Given the description of an element on the screen output the (x, y) to click on. 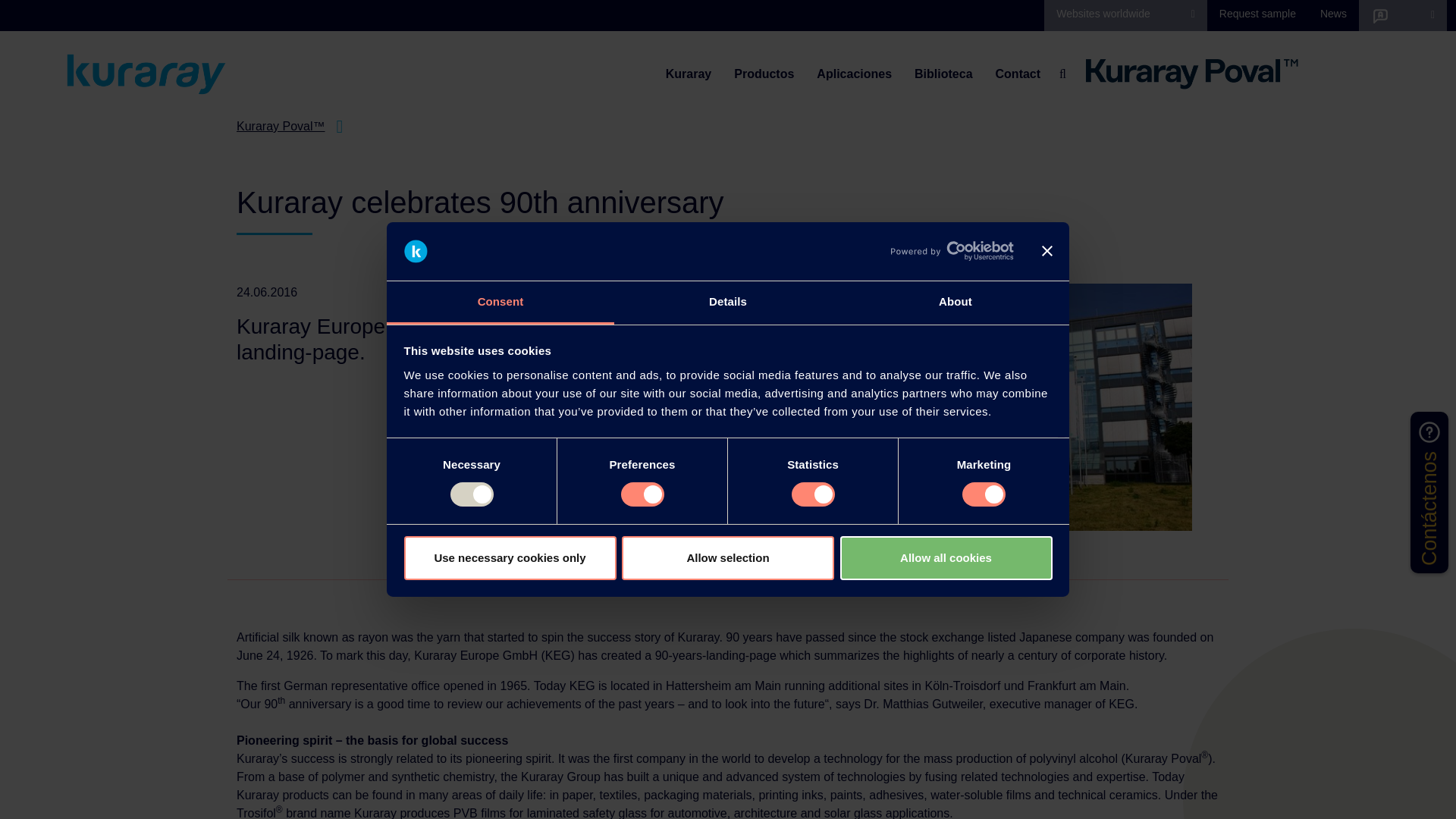
Consent (500, 302)
About (954, 302)
Allow all cookies (946, 557)
Use necessary cookies only (509, 557)
Details (727, 302)
Allow selection (727, 557)
Websites worldwide (1125, 13)
